Given the description of an element on the screen output the (x, y) to click on. 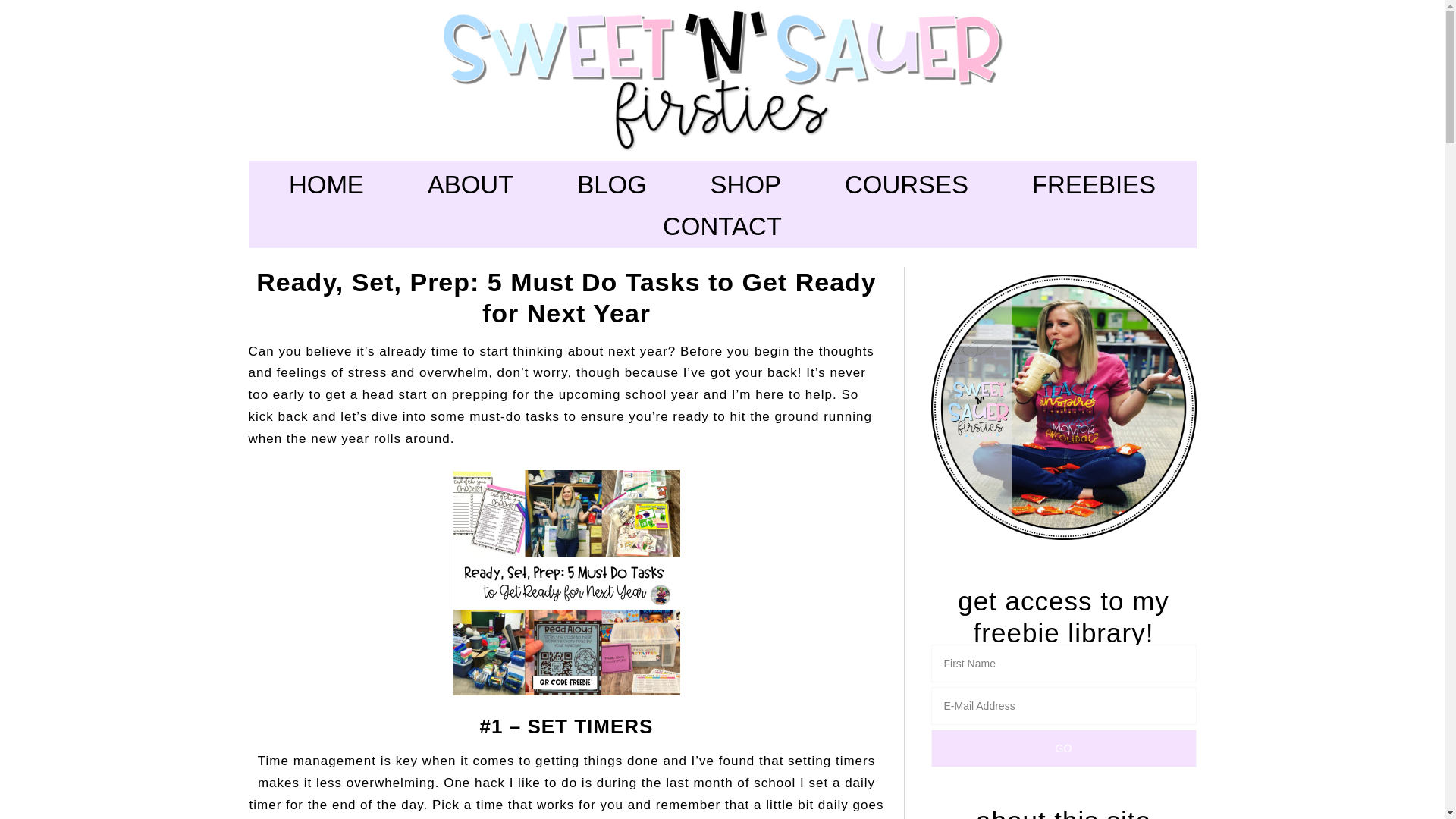
COURSES (905, 185)
BLOG (612, 185)
FREEBIES (1093, 185)
ABOUT (470, 185)
Go (1063, 748)
HOME (326, 185)
Go (1063, 748)
SHOP (745, 185)
CONTACT (721, 227)
